Given the description of an element on the screen output the (x, y) to click on. 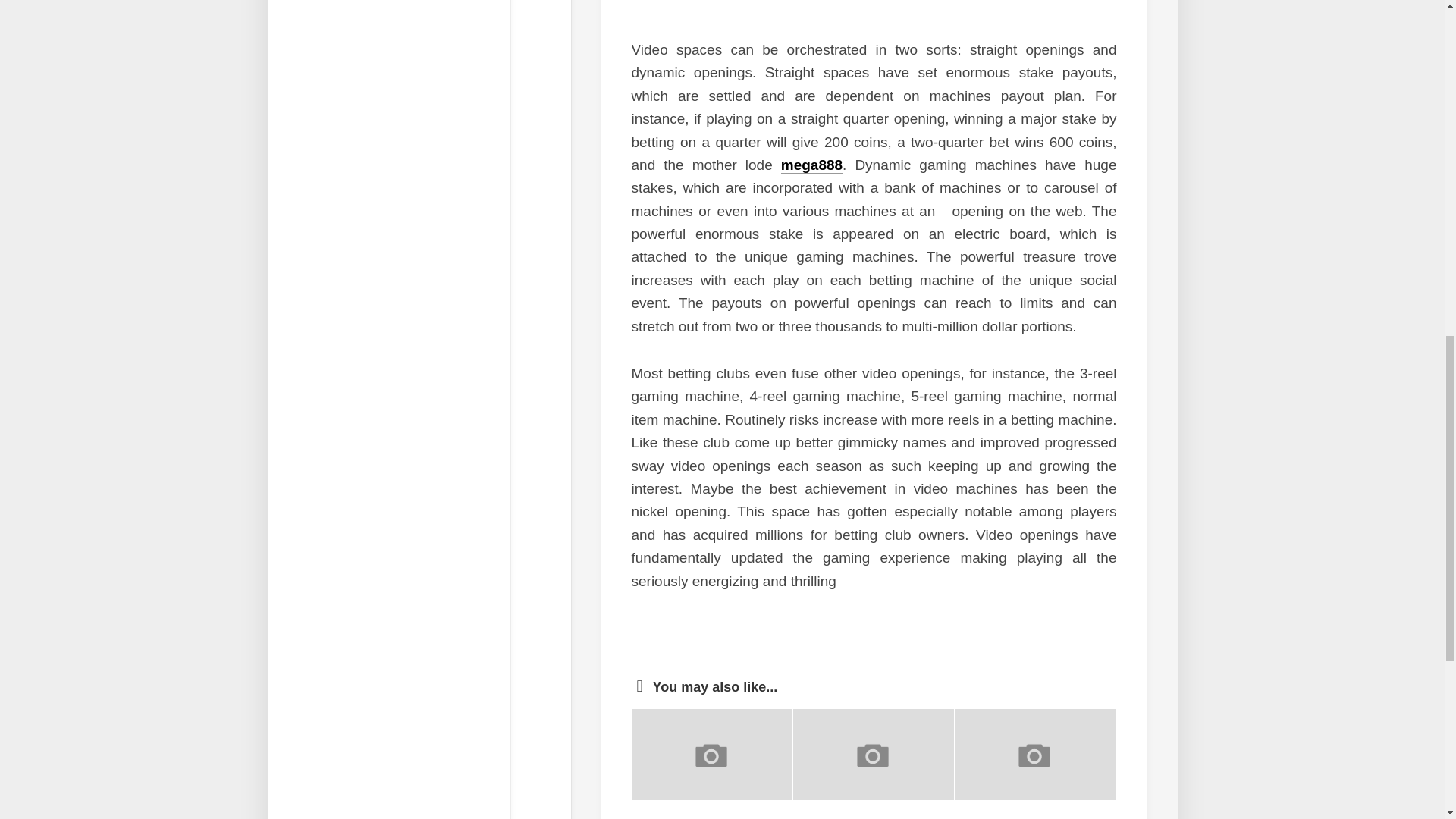
mega888 (811, 164)
Win Significantly more cash to PG SLOT Online slot Game (1025, 817)
Rules to profit by Casino Fun88 Betting Market Experience (700, 817)
